Given the description of an element on the screen output the (x, y) to click on. 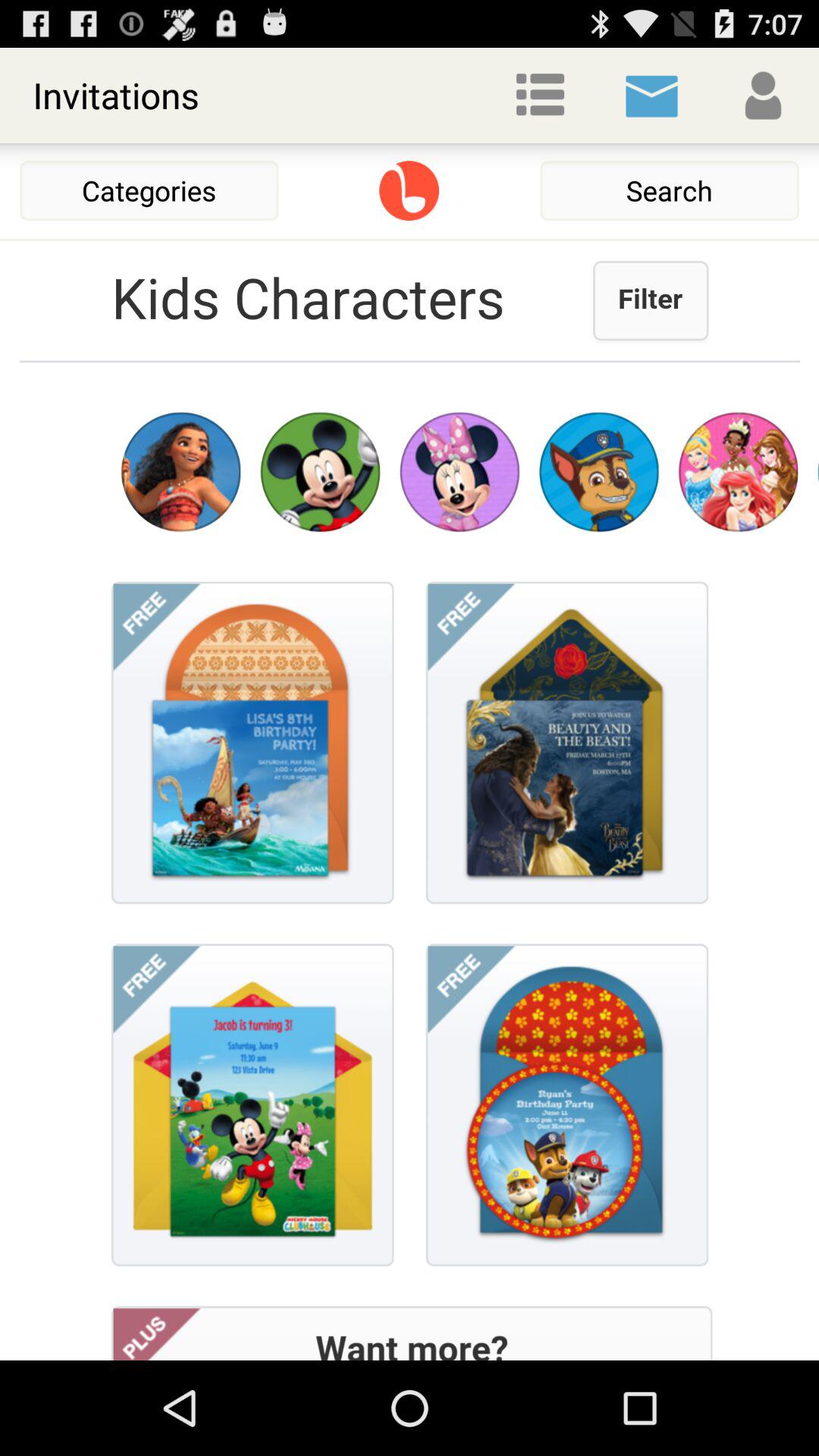
music (409, 190)
